Given the description of an element on the screen output the (x, y) to click on. 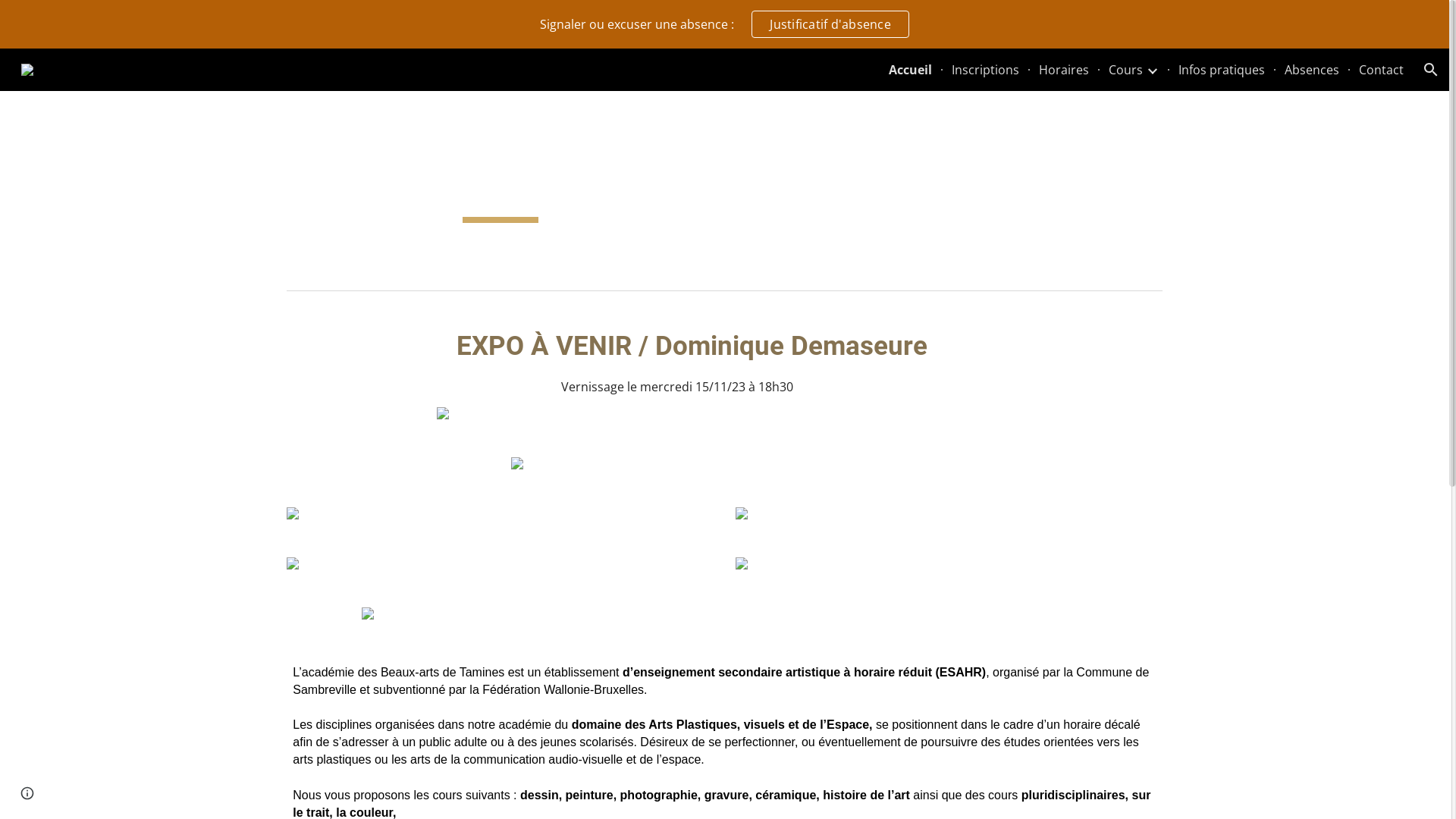
Infos pratiques Element type: text (1221, 69)
Justificatif d'absence Element type: text (830, 24)
Horaires Element type: text (1063, 69)
Inscriptions Element type: text (985, 69)
Accueil Element type: text (909, 69)
Contact Element type: text (1380, 69)
Expand/Collapse Element type: hover (1151, 69)
Cours Element type: text (1125, 69)
Absences Element type: text (1311, 69)
